Given the description of an element on the screen output the (x, y) to click on. 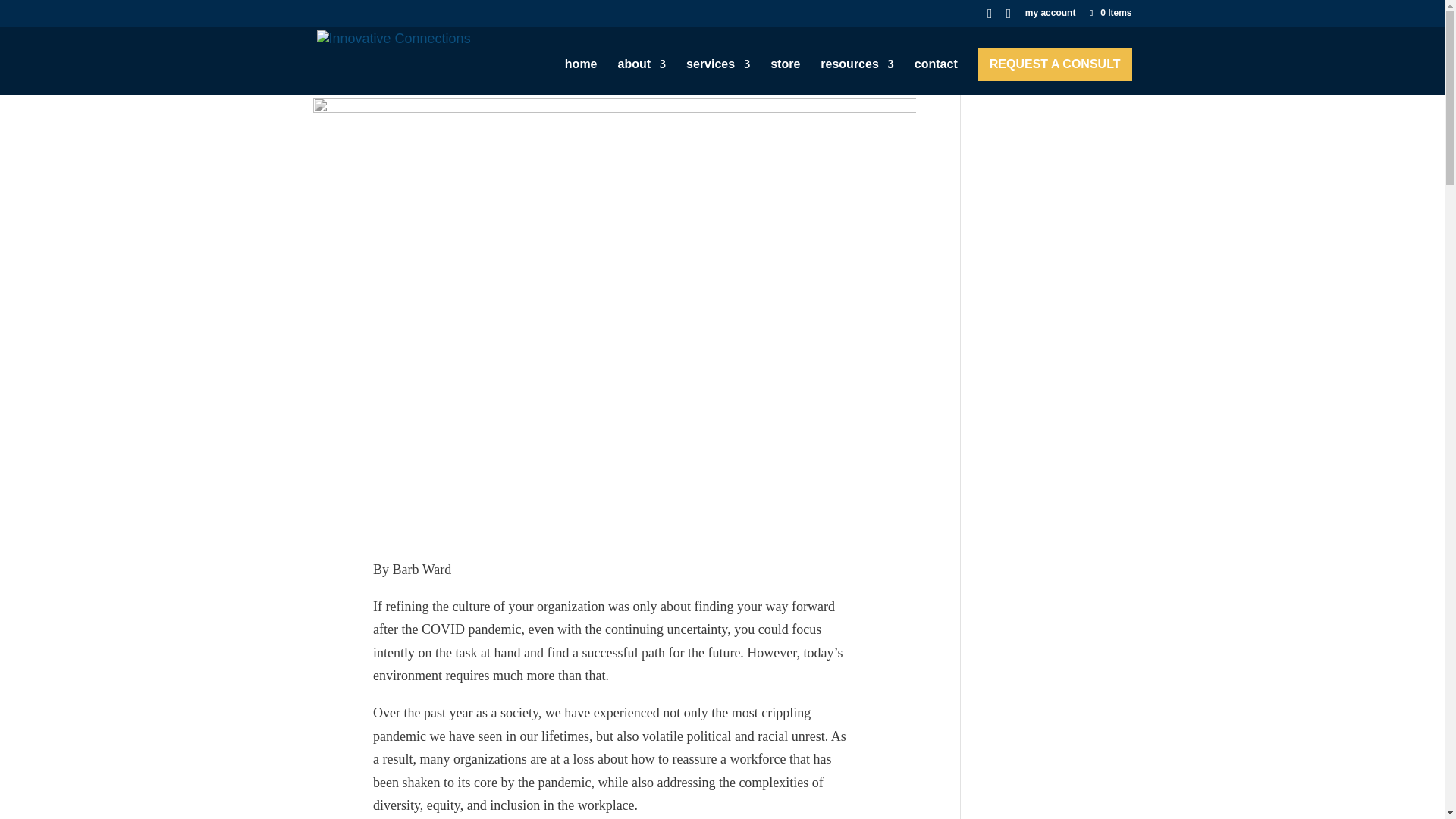
services (717, 76)
about (641, 76)
my account (1050, 16)
resources (857, 76)
REQUEST A CONSULT (1055, 64)
home (580, 76)
0 Items (1108, 12)
contact (936, 76)
